Given the description of an element on the screen output the (x, y) to click on. 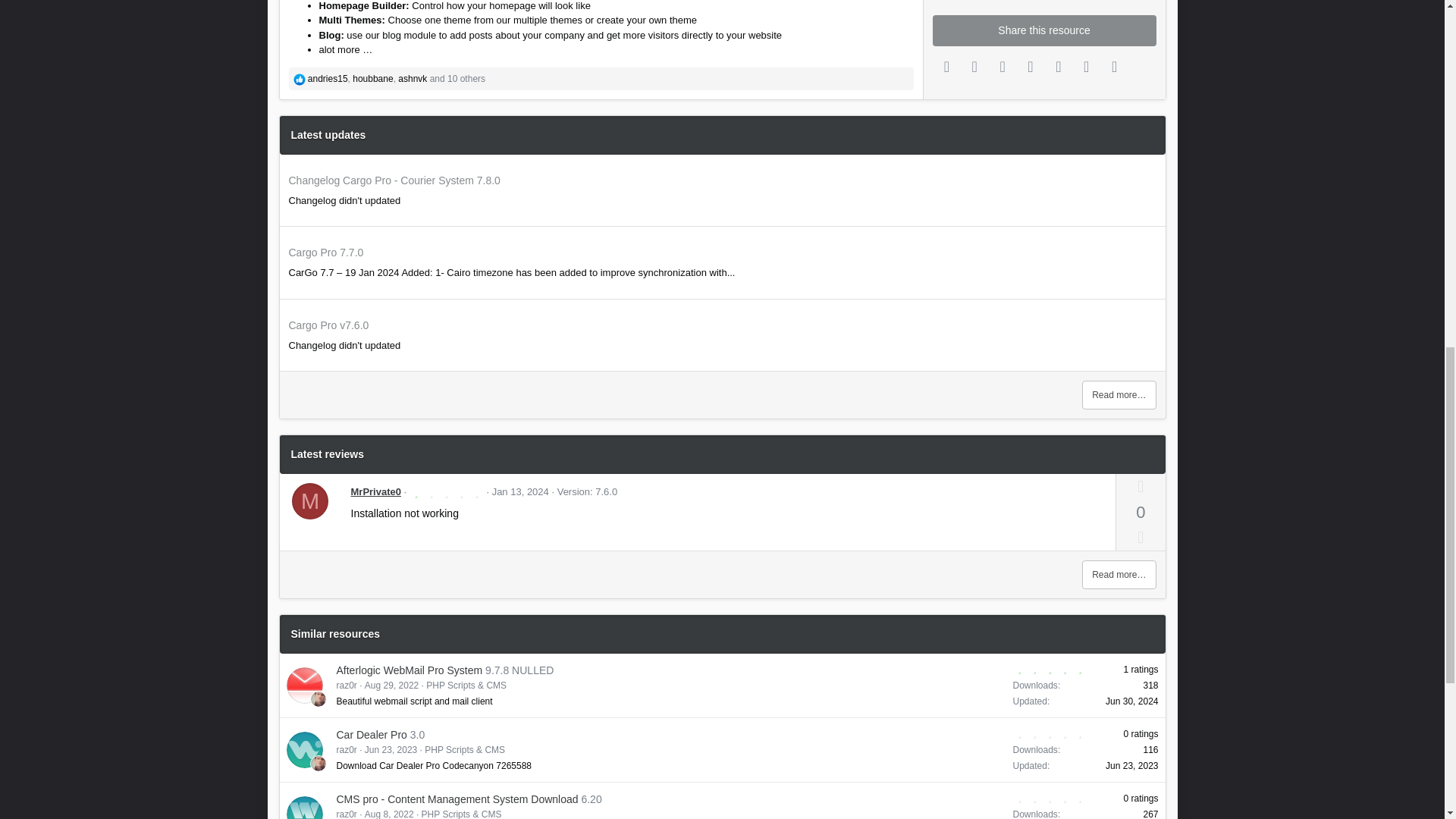
Jun 23, 2023 at 5:26 PM (390, 749)
raz0r (317, 763)
Jan 13, 2024 at 9:26 AM (520, 491)
Jun 30, 2024 at 11:49 AM (1131, 701)
raz0r (317, 699)
Like (298, 78)
Aug 29, 2022 at 4:57 PM (392, 685)
